Given the description of an element on the screen output the (x, y) to click on. 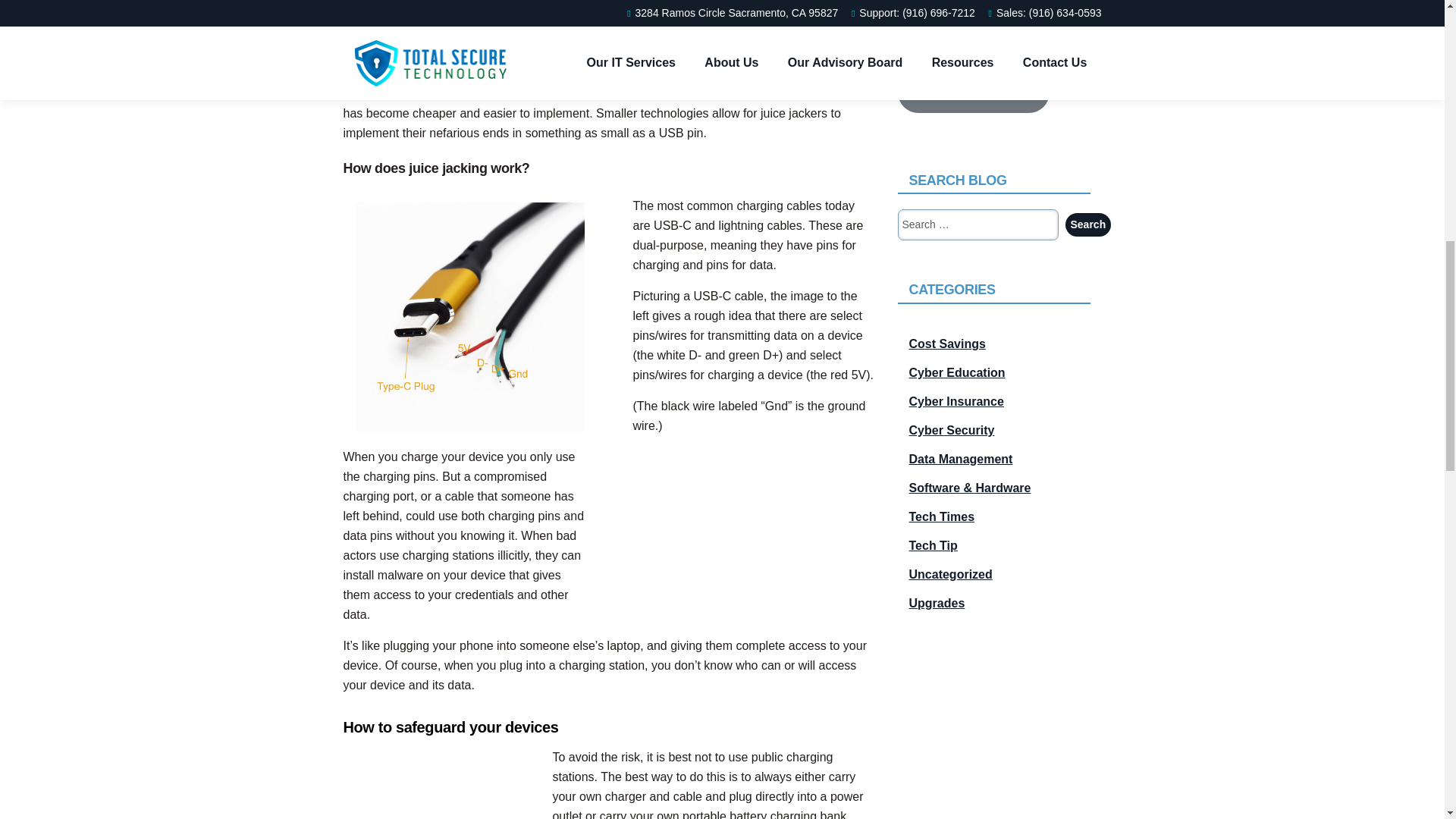
Search (1087, 224)
Search (1087, 224)
Cost Savings (993, 344)
Search (1087, 224)
Cyber Security (993, 430)
Submit (973, 92)
Submit (973, 92)
Cyber Insurance (993, 401)
Data Management (993, 459)
Cyber Education (993, 372)
